Given the description of an element on the screen output the (x, y) to click on. 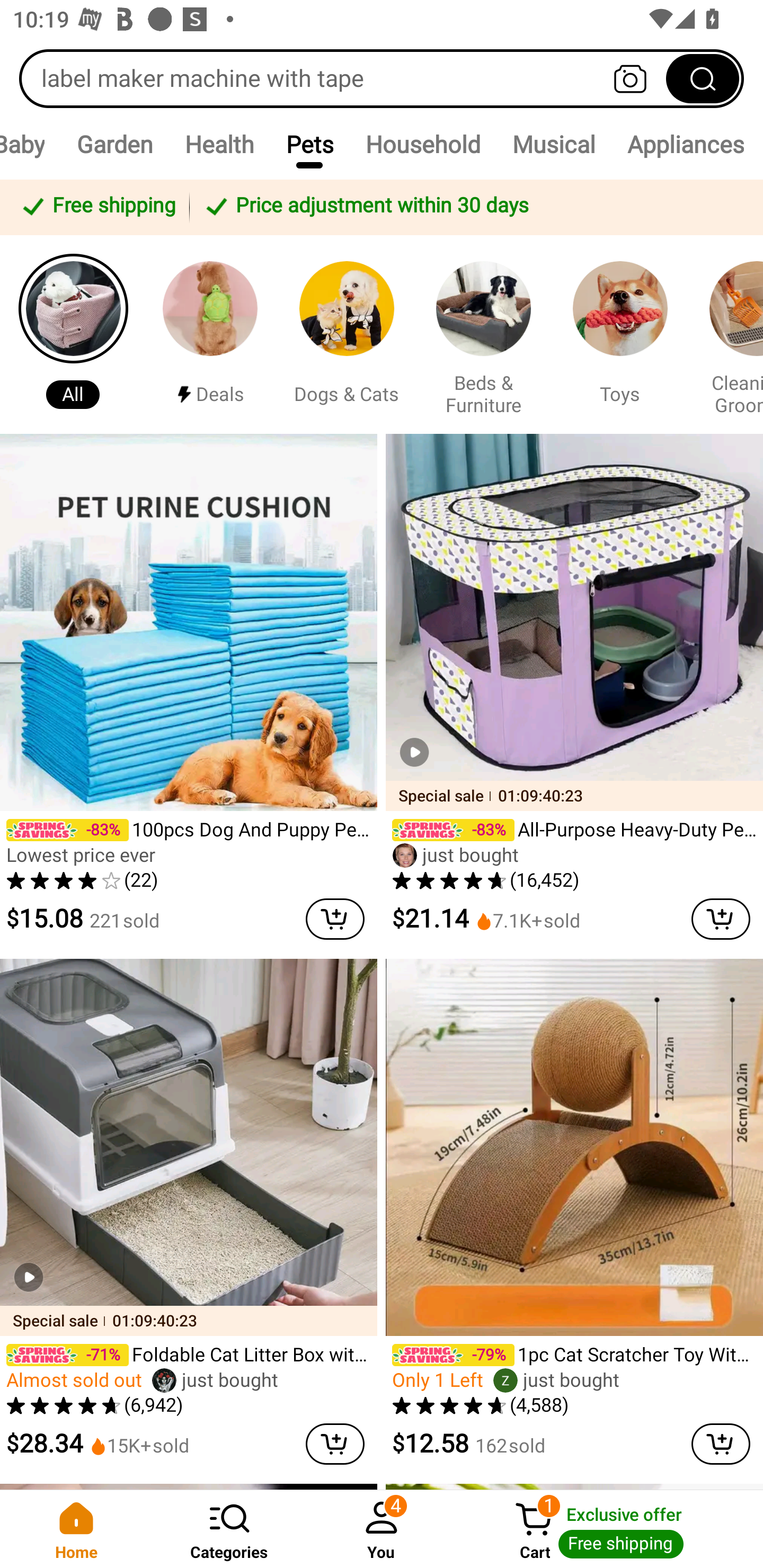
label maker machine with tape (381, 78)
Garden (114, 144)
Health (218, 144)
Pets (309, 144)
Household (422, 144)
Musical (553, 144)
Appliances (685, 144)
Free shipping (97, 206)
Price adjustment within 30 days (472, 206)
All (72, 333)
￼￼Deals (209, 333)
Dogs & Cats (346, 333)
Beds & Furniture (482, 333)
Toys (619, 333)
Cleaning & Grooming (729, 333)
cart delete (334, 918)
cart delete (720, 918)
cart delete (334, 1443)
cart delete (720, 1443)
Home (76, 1528)
Categories (228, 1528)
You 4 You (381, 1528)
Cart 1 Cart Exclusive offer (610, 1528)
